Given the description of an element on the screen output the (x, y) to click on. 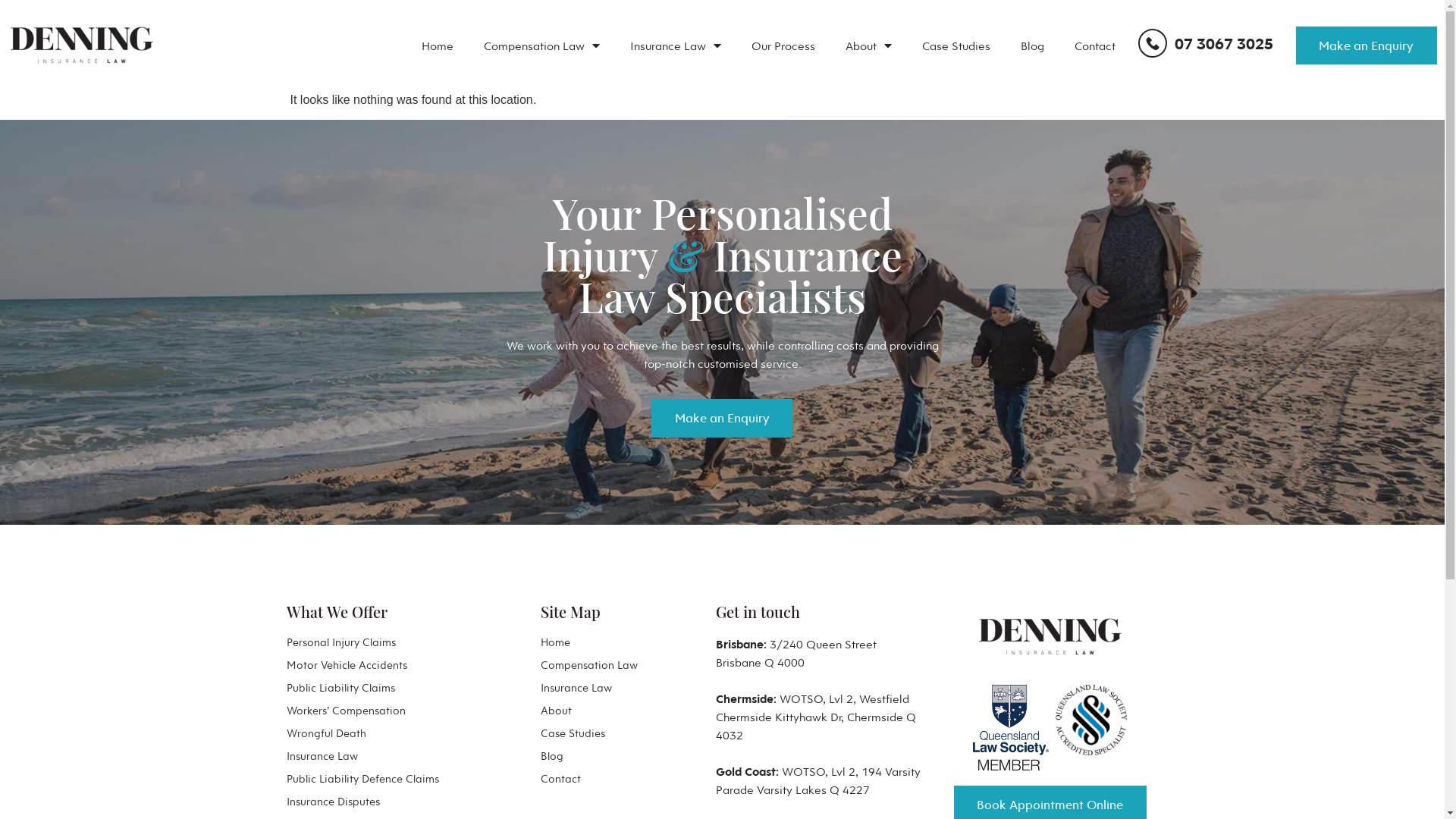
Contact Element type: text (616, 778)
Insurance Law Element type: text (616, 687)
Make an Enquiry Element type: text (721, 417)
Wrongful Death Element type: text (369, 732)
Blog Element type: text (616, 755)
Compensation Law Element type: text (541, 45)
Our Process Element type: text (783, 45)
Compensation Law Element type: text (616, 664)
Case Studies Element type: text (956, 45)
Contact Element type: text (1094, 45)
Home Element type: text (616, 641)
Personal Injury Claims Element type: text (369, 641)
About Element type: text (616, 710)
07 3067 3025 Element type: text (1205, 43)
Make an Enquiry Element type: text (1366, 45)
Insurance Disputes Element type: text (369, 801)
About Element type: text (868, 45)
Insurance Law Element type: text (369, 755)
Case Studies Element type: text (616, 732)
Motor Vehicle Accidents Element type: text (369, 664)
Insurance Law Element type: text (675, 45)
Blog Element type: text (1032, 45)
Public Liability Defence Claims Element type: text (369, 778)
Public Liability Claims Element type: text (369, 687)
Home Element type: text (437, 45)
